Given the description of an element on the screen output the (x, y) to click on. 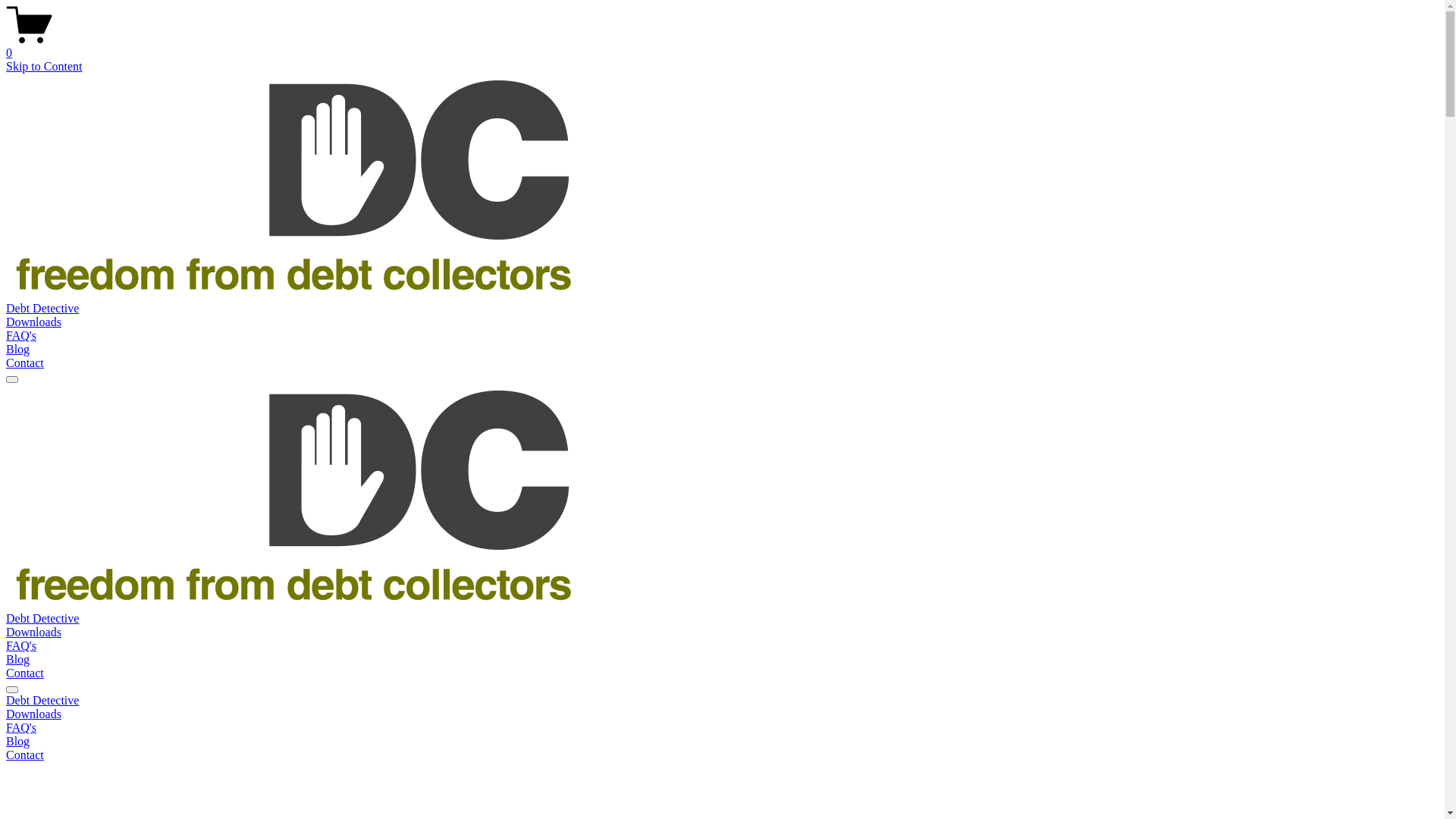
Blog Element type: text (722, 741)
Contact Element type: text (24, 672)
Downloads Element type: text (33, 321)
Blog Element type: text (17, 658)
0 Element type: text (722, 45)
Downloads Element type: text (33, 631)
FAQ's Element type: text (21, 335)
Debt Detective Element type: text (42, 307)
Downloads Element type: text (722, 714)
Contact Element type: text (722, 755)
Skip to Content Element type: text (43, 65)
FAQ's Element type: text (21, 645)
Contact Element type: text (24, 362)
FAQ's Element type: text (722, 727)
Blog Element type: text (17, 348)
Debt Detective Element type: text (722, 700)
Debt Detective Element type: text (42, 617)
